Given the description of an element on the screen output the (x, y) to click on. 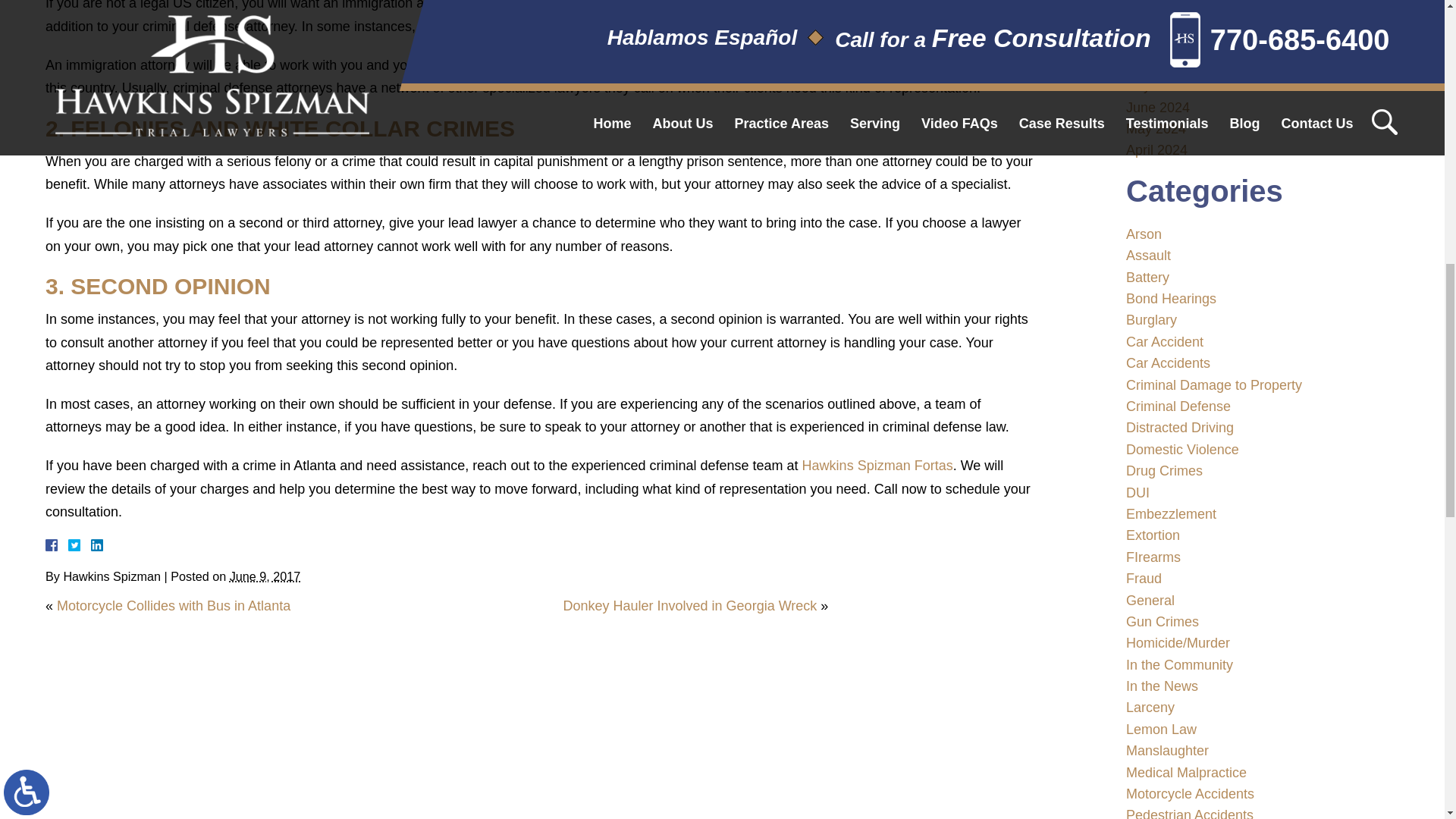
2017-06-09T13:00:06-0700 (265, 576)
LinkedIn (90, 544)
Twitter (80, 544)
Facebook (69, 544)
